Given the description of an element on the screen output the (x, y) to click on. 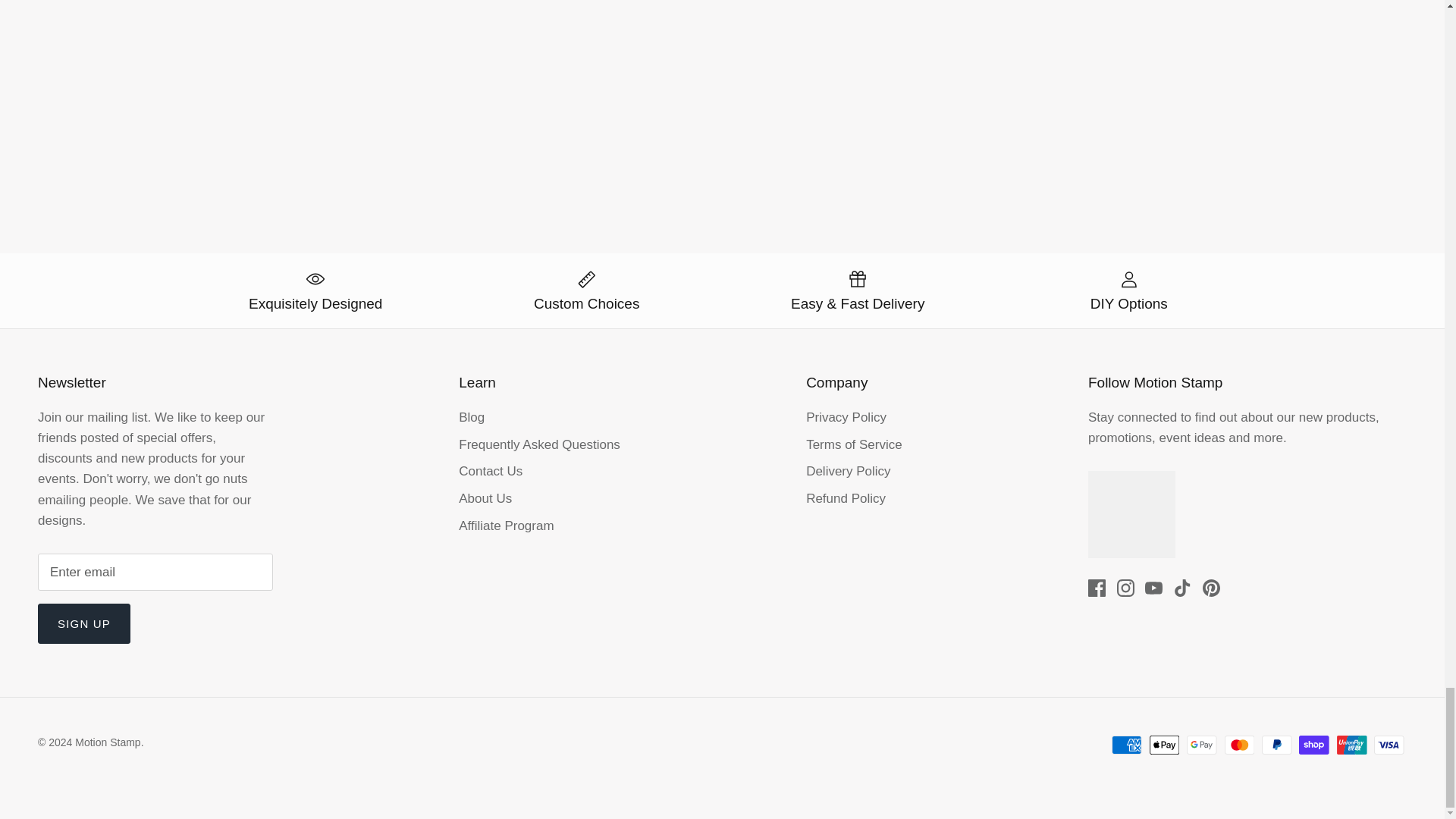
Instagram (1125, 588)
Pinterest (1211, 588)
Youtube (1152, 588)
American Express (1126, 744)
Facebook (1096, 588)
Apple Pay (1164, 744)
Google Pay (1201, 744)
